Given the description of an element on the screen output the (x, y) to click on. 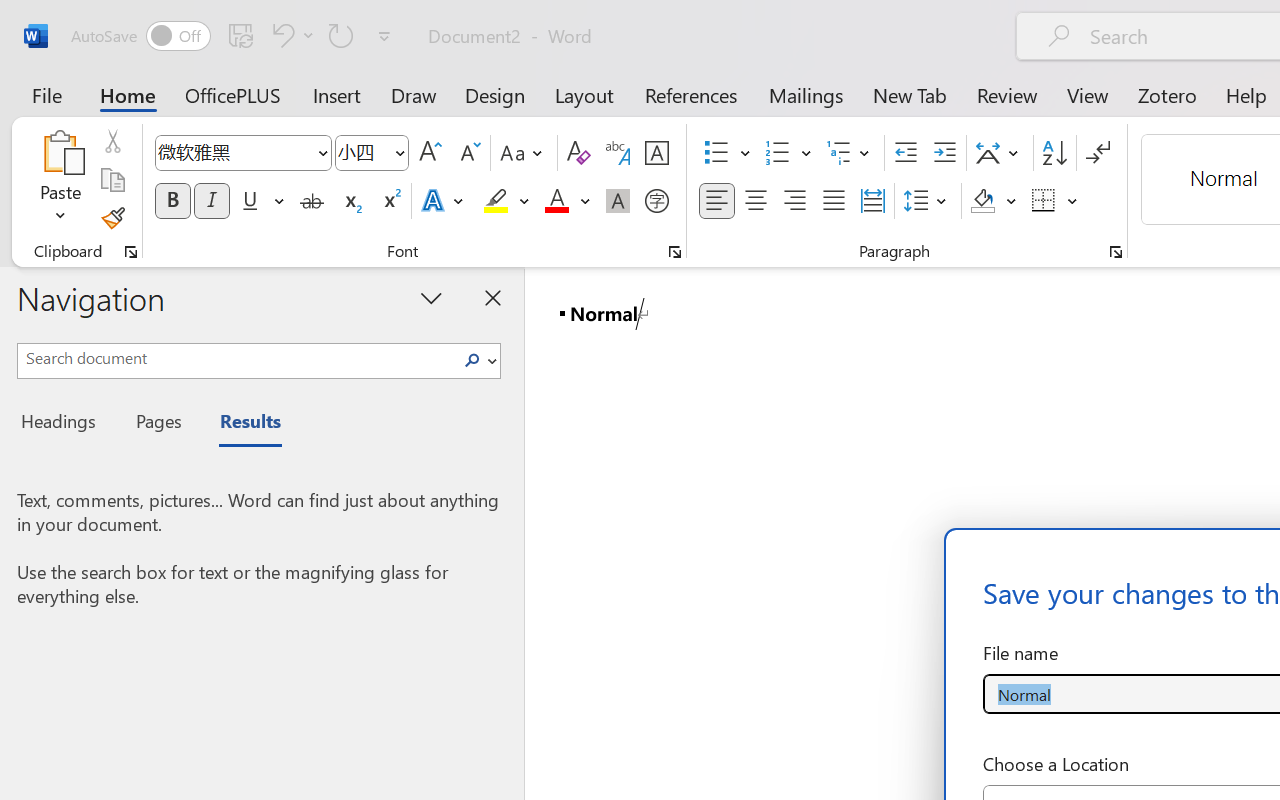
Grow Font (430, 153)
Shading RGB(0, 0, 0) (982, 201)
Borders (1044, 201)
Insert (337, 94)
Layout (584, 94)
Undo Style (280, 35)
Align Left (716, 201)
Change Case (524, 153)
Zotero (1166, 94)
Line and Paragraph Spacing (927, 201)
Customize Quick Access Toolbar (384, 35)
Paragraph... (1115, 252)
Paste (60, 179)
Paste (60, 151)
